Given the description of an element on the screen output the (x, y) to click on. 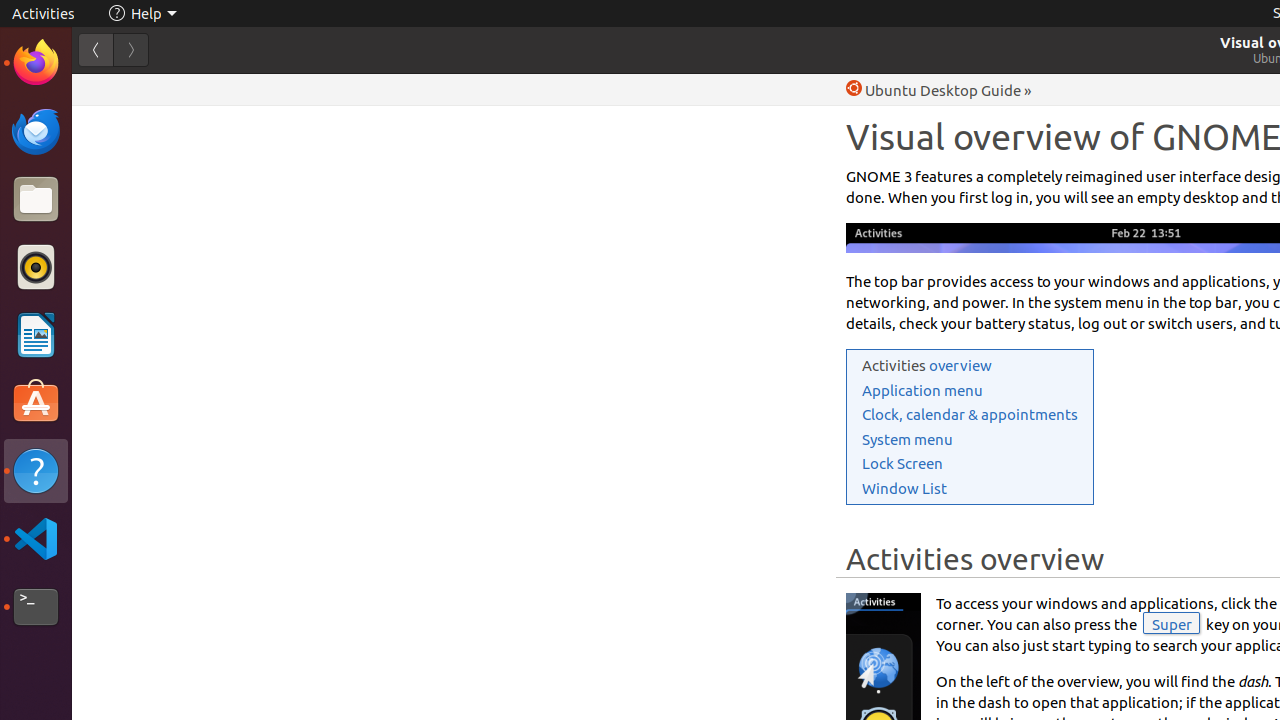
Application menu Element type: link (922, 390)
Lock Screen Element type: link (902, 463)
Trash Element type: label (133, 191)
Clock, calendar & appointments Element type: link (970, 414)
